Given the description of an element on the screen output the (x, y) to click on. 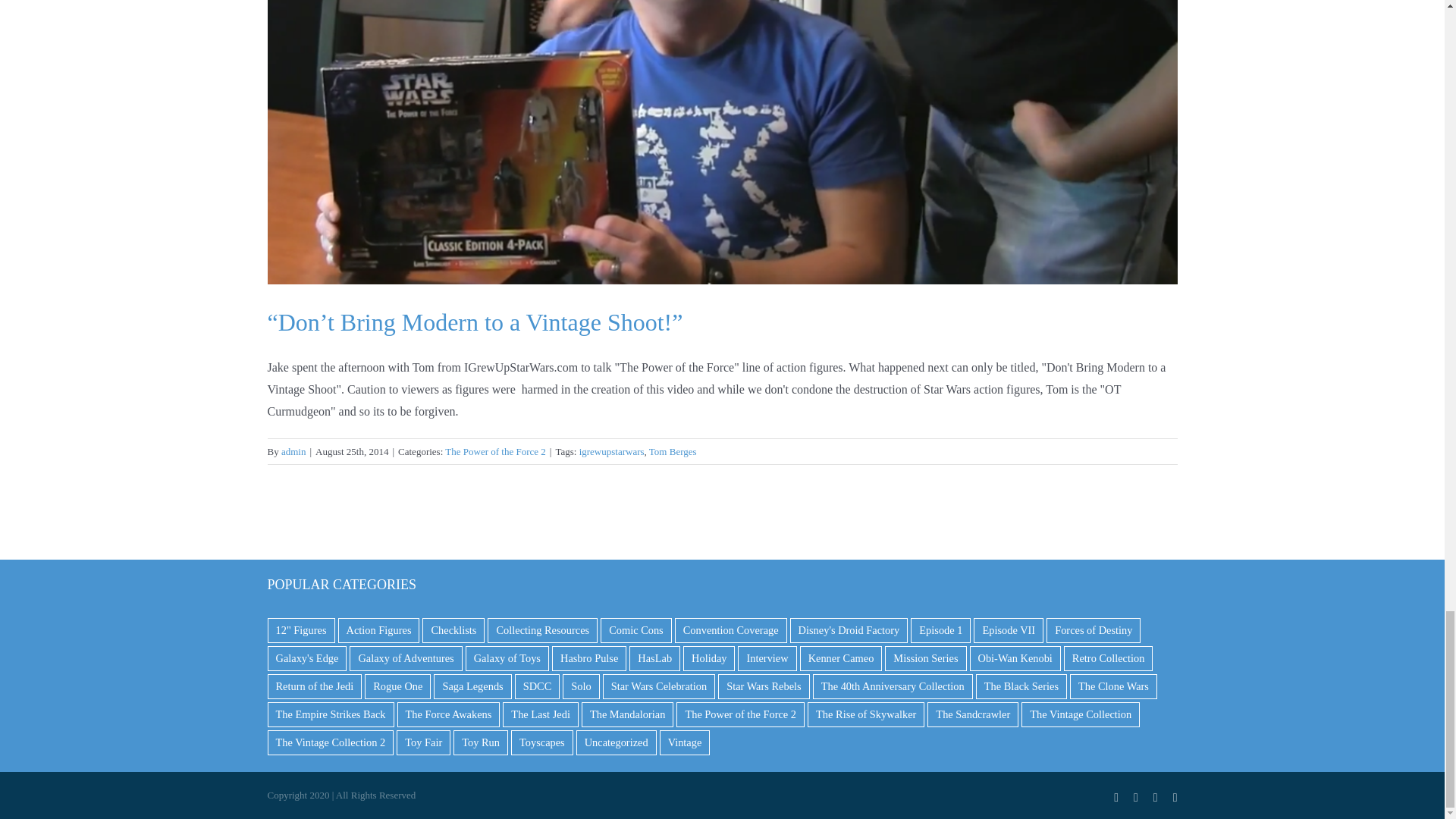
Posts by admin (293, 451)
